Given the description of an element on the screen output the (x, y) to click on. 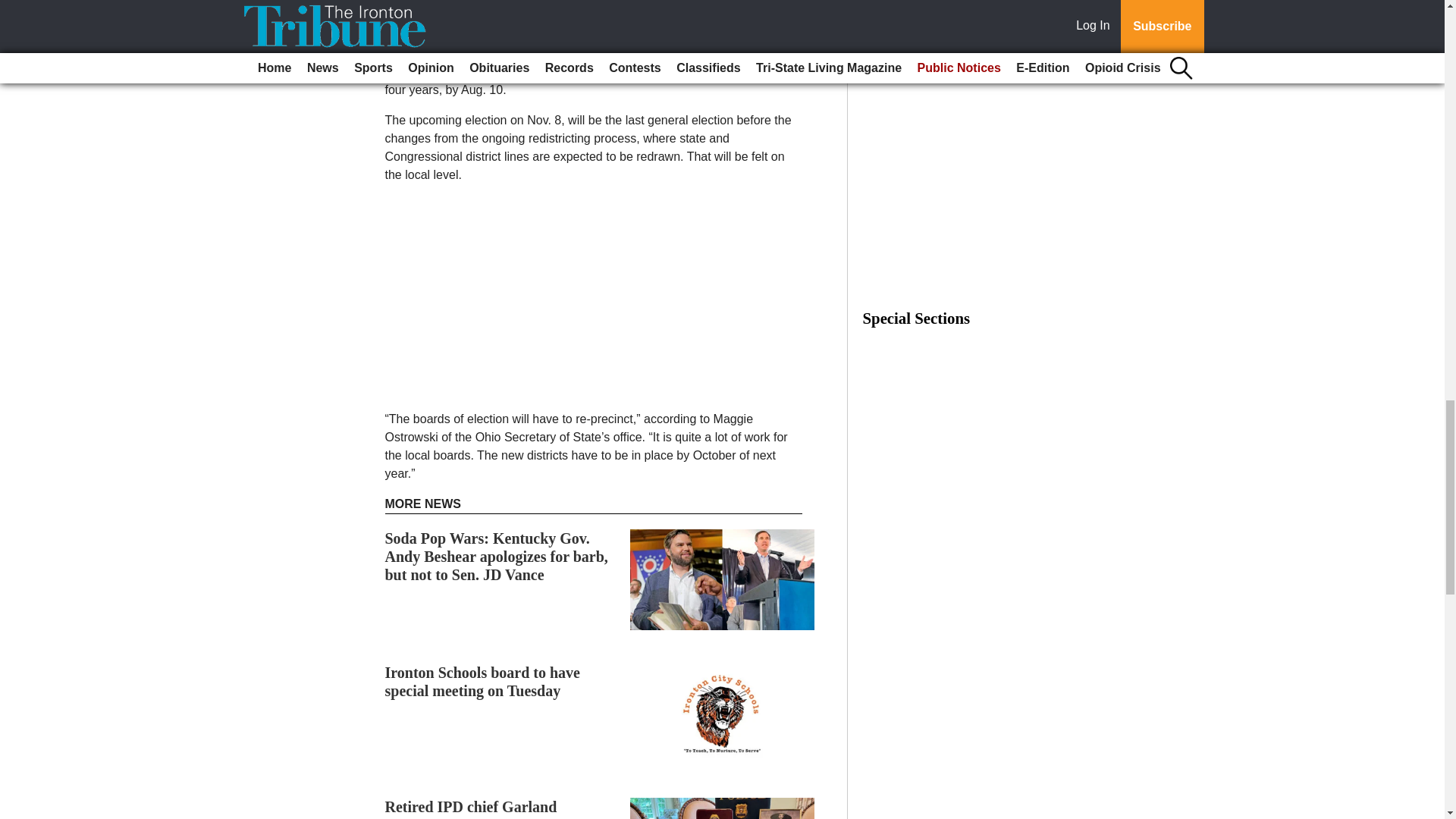
Ironton Schools board to have special meeting on Tuesday (482, 681)
Ironton Schools board to have special meeting on Tuesday (482, 681)
Retired IPD chief Garland remembered (471, 808)
Retired IPD chief Garland remembered (471, 808)
